Given the description of an element on the screen output the (x, y) to click on. 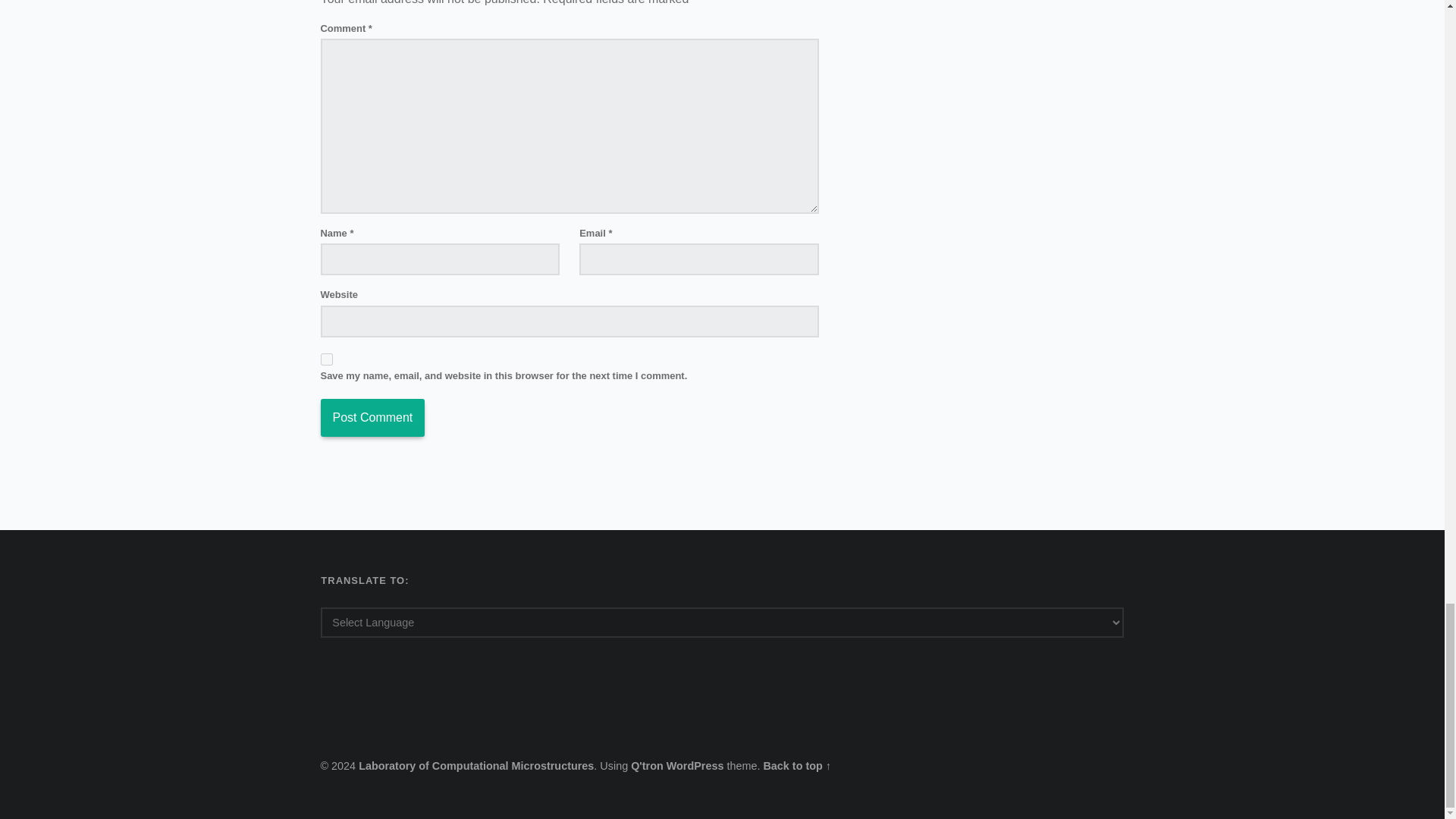
Laboratory of Computational Microstructures (476, 766)
Post Comment (372, 417)
yes (325, 358)
